Given the description of an element on the screen output the (x, y) to click on. 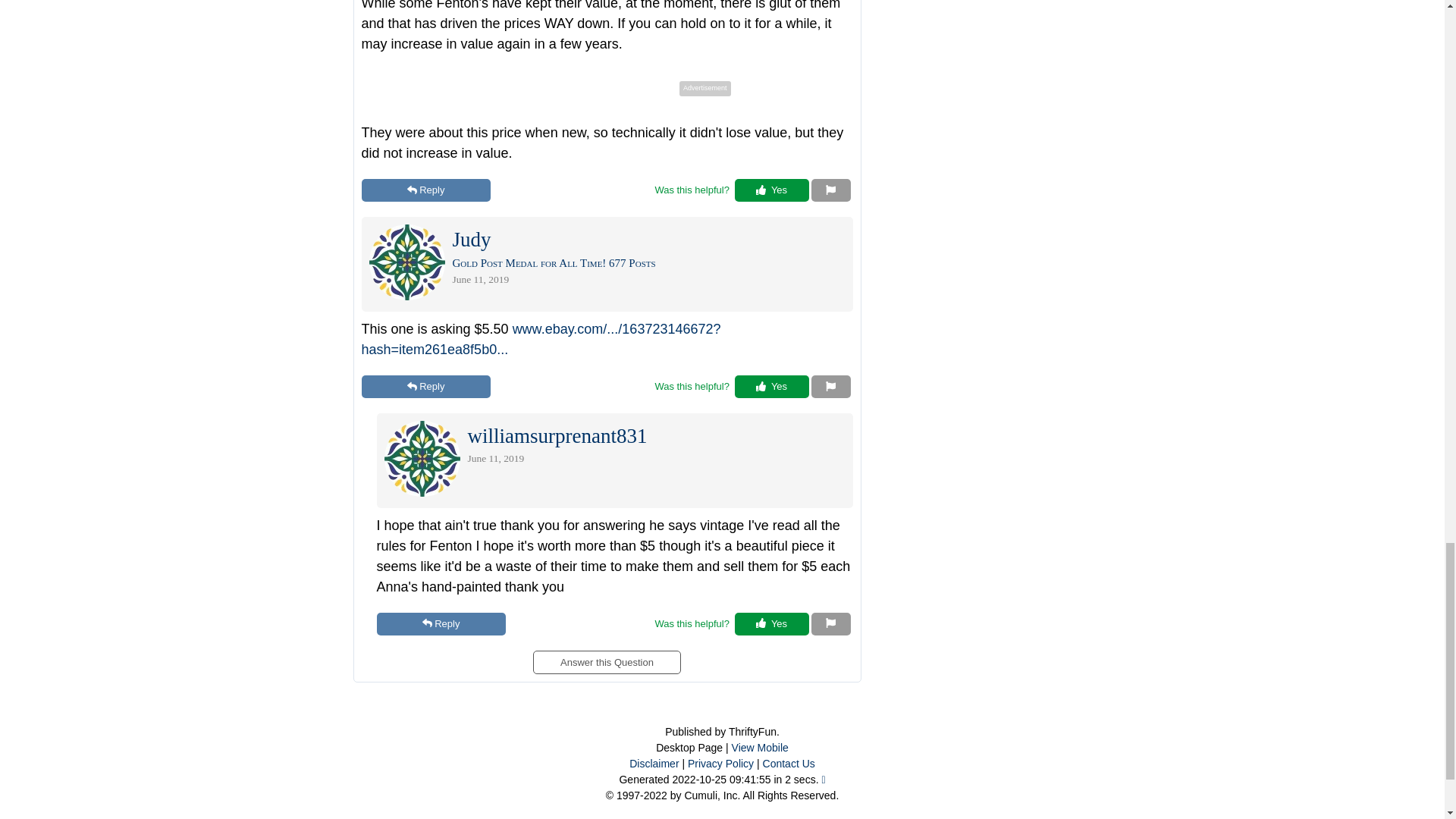
williamsurprenant831 (556, 439)
 Reply (440, 623)
Judy (470, 242)
Answer this Question (605, 657)
 Reply (425, 190)
 Reply (425, 386)
